Given the description of an element on the screen output the (x, y) to click on. 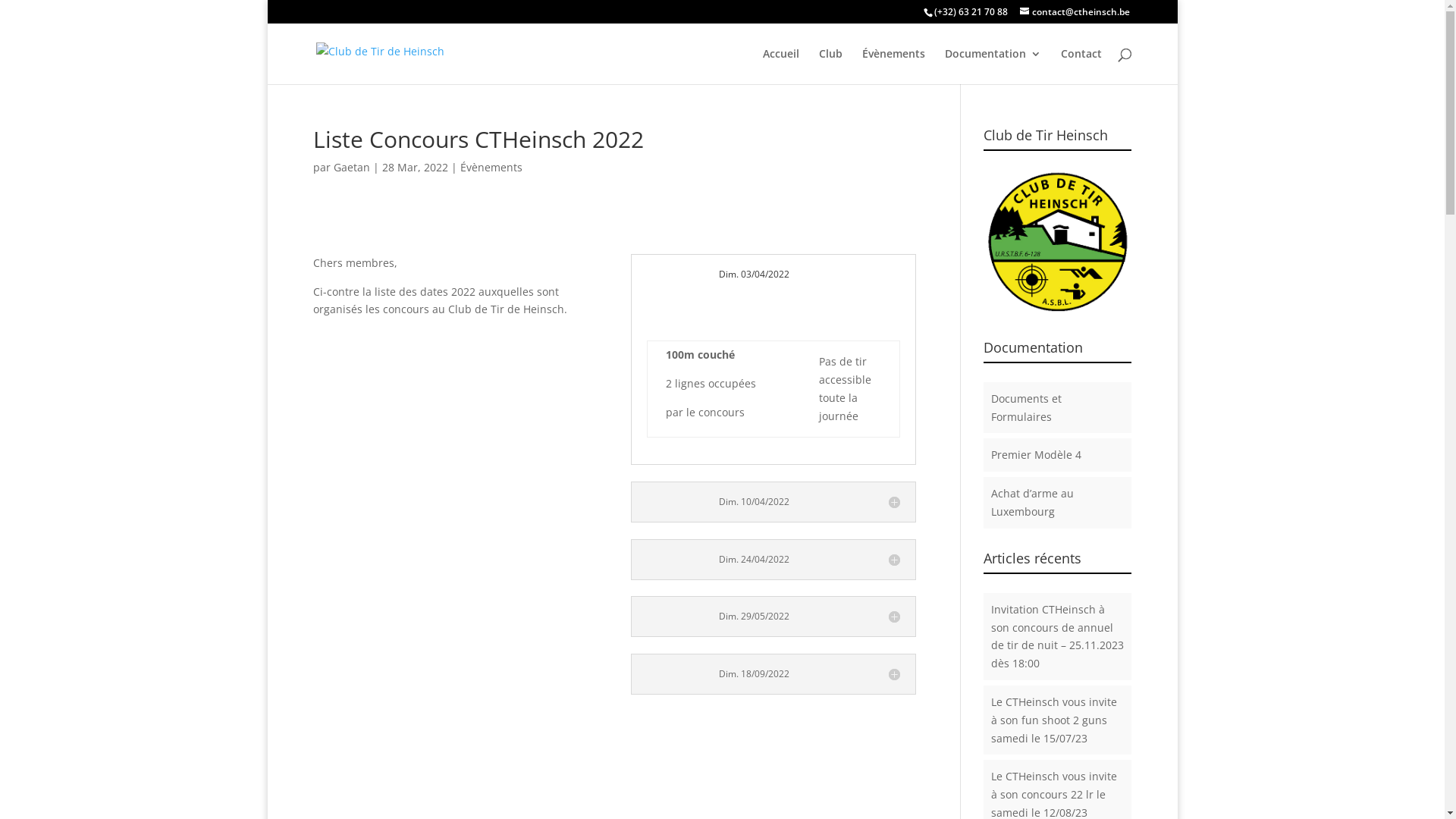
contact@ctheinsch.be Element type: text (1074, 11)
Accueil Element type: text (780, 66)
Documentation Element type: text (992, 66)
Documents et Formulaires Element type: text (1026, 407)
Gaetan Element type: text (351, 167)
Contact Element type: text (1080, 66)
Club Element type: text (830, 66)
